Given the description of an element on the screen output the (x, y) to click on. 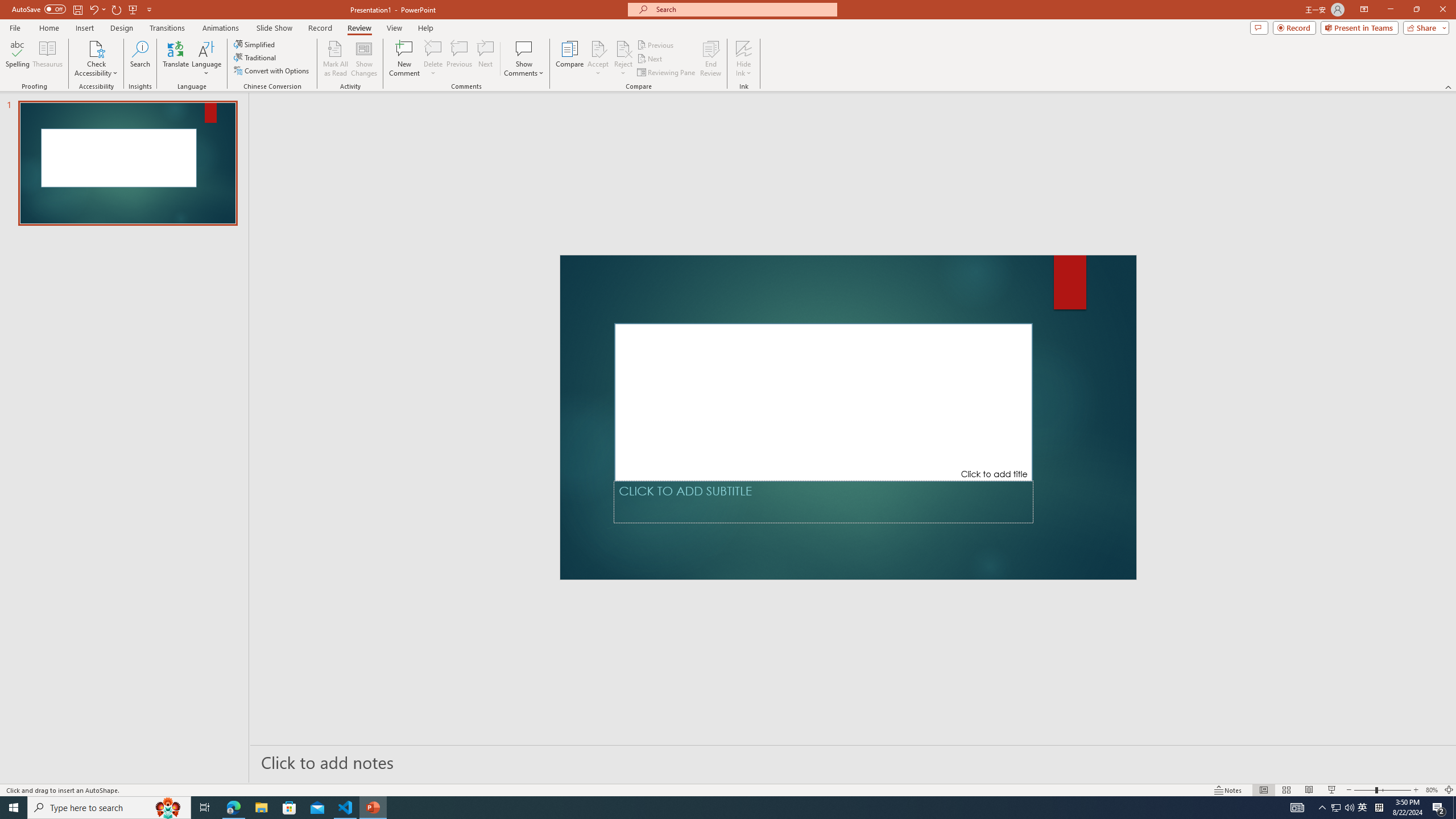
New Comment (403, 58)
Mark All as Read (335, 58)
Traditional (255, 56)
Compare (569, 58)
Accept (598, 58)
Present in Teams (1359, 27)
Restore Down (1416, 9)
Save (77, 9)
Help (425, 28)
Zoom 80% (1431, 790)
File Tab (15, 27)
Accept Change (598, 48)
Show Comments (524, 58)
Slide (127, 163)
